Given the description of an element on the screen output the (x, y) to click on. 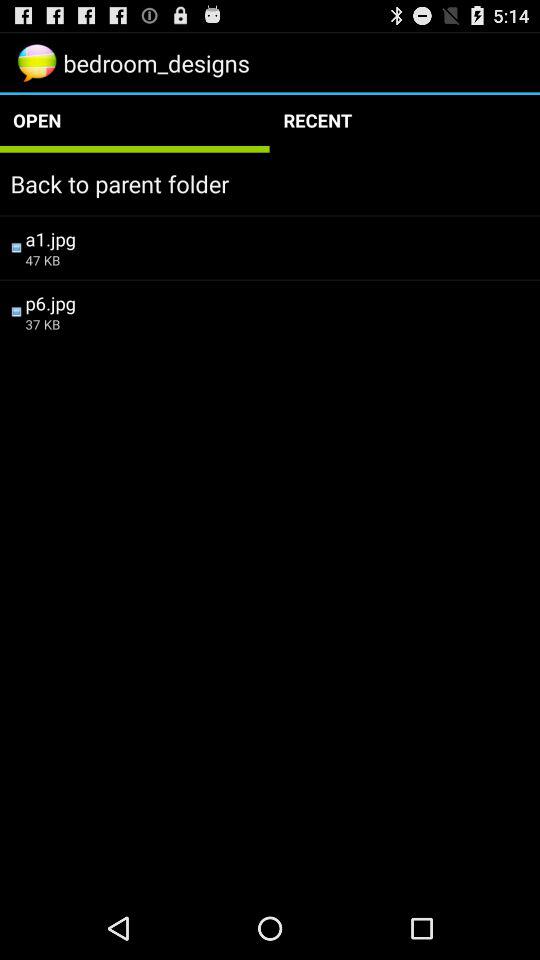
tap icon above the p6.jpg item (277, 259)
